Given the description of an element on the screen output the (x, y) to click on. 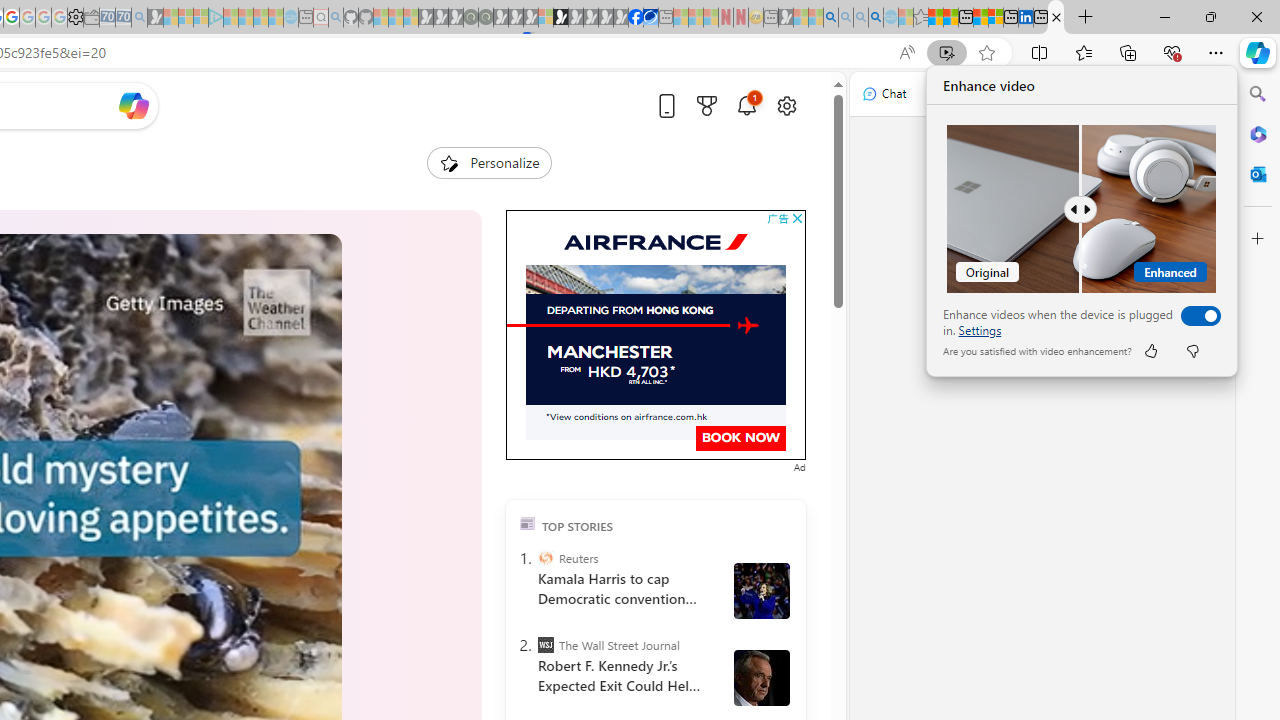
Aberdeen, Hong Kong SAR weather forecast | Microsoft Weather (950, 17)
 Harris and Walz campaign in Wisconsin (761, 591)
AutomationID: cbb (797, 218)
Nordace | Facebook (635, 17)
Bing Real Estate - Home sales and rental listings - Sleeping (139, 17)
Sign in to your account - Sleeping (545, 17)
MSN - Sleeping (786, 17)
